Given the description of an element on the screen output the (x, y) to click on. 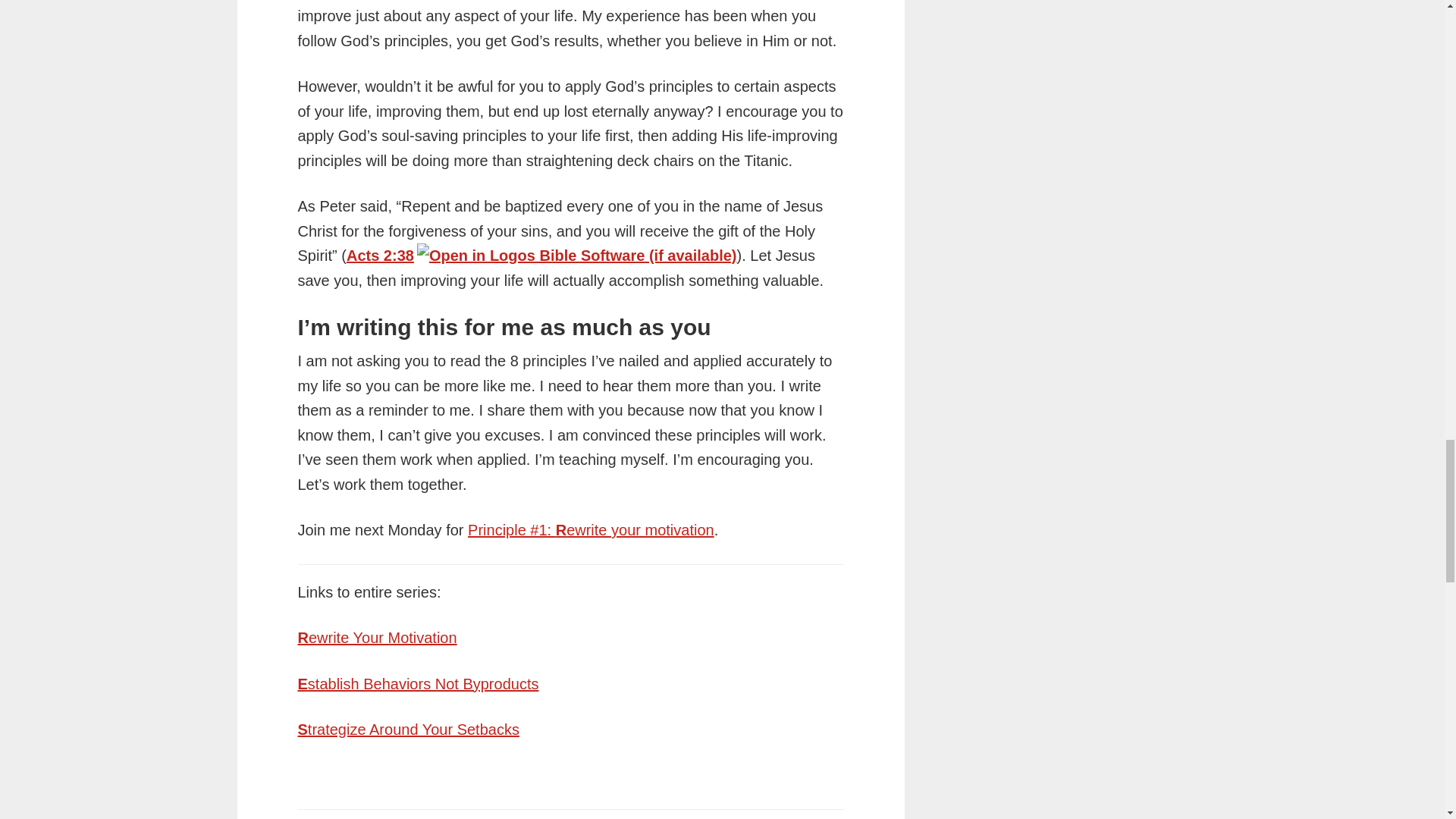
Rewrite Your Motivation (377, 637)
Strategize Around Your Setbacks (407, 729)
stablish Behaviors Not Byproducts (422, 683)
Acts 2:38 (379, 255)
